Given the description of an element on the screen output the (x, y) to click on. 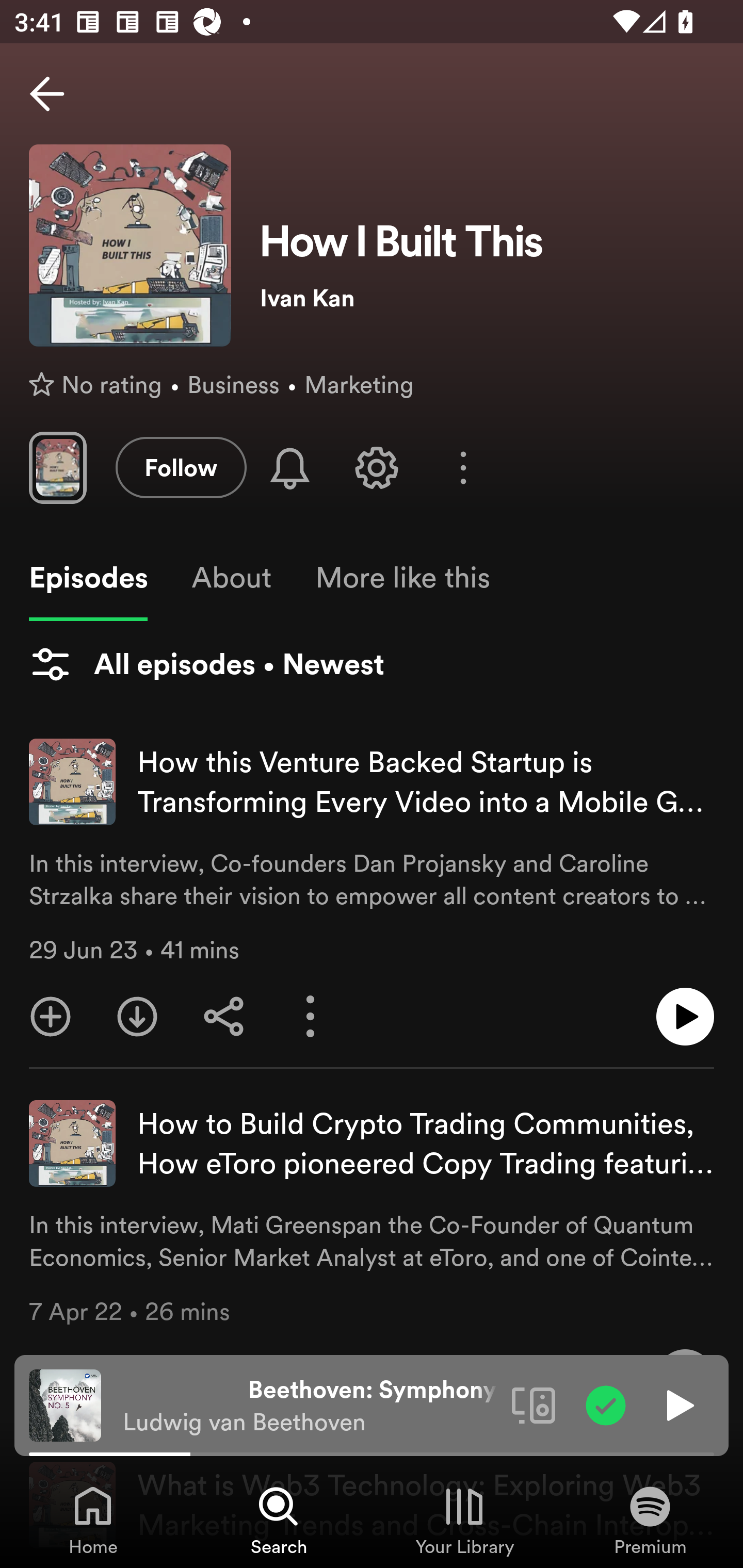
Back (46, 93)
Ivan Kan (487, 297)
Follow Follow this show (180, 466)
Settings for this Show. (376, 467)
More options for show How I Built This (462, 467)
About (231, 577)
More like this (402, 577)
All episodes • Newest (206, 663)
Share (223, 1016)
The cover art of the currently playing track (64, 1404)
Connect to a device. Opens the devices menu (533, 1404)
Item added (605, 1404)
Play (677, 1404)
Home, Tab 1 of 4 Home Home (92, 1519)
Search, Tab 2 of 4 Search Search (278, 1519)
Your Library, Tab 3 of 4 Your Library Your Library (464, 1519)
Premium, Tab 4 of 4 Premium Premium (650, 1519)
